Given the description of an element on the screen output the (x, y) to click on. 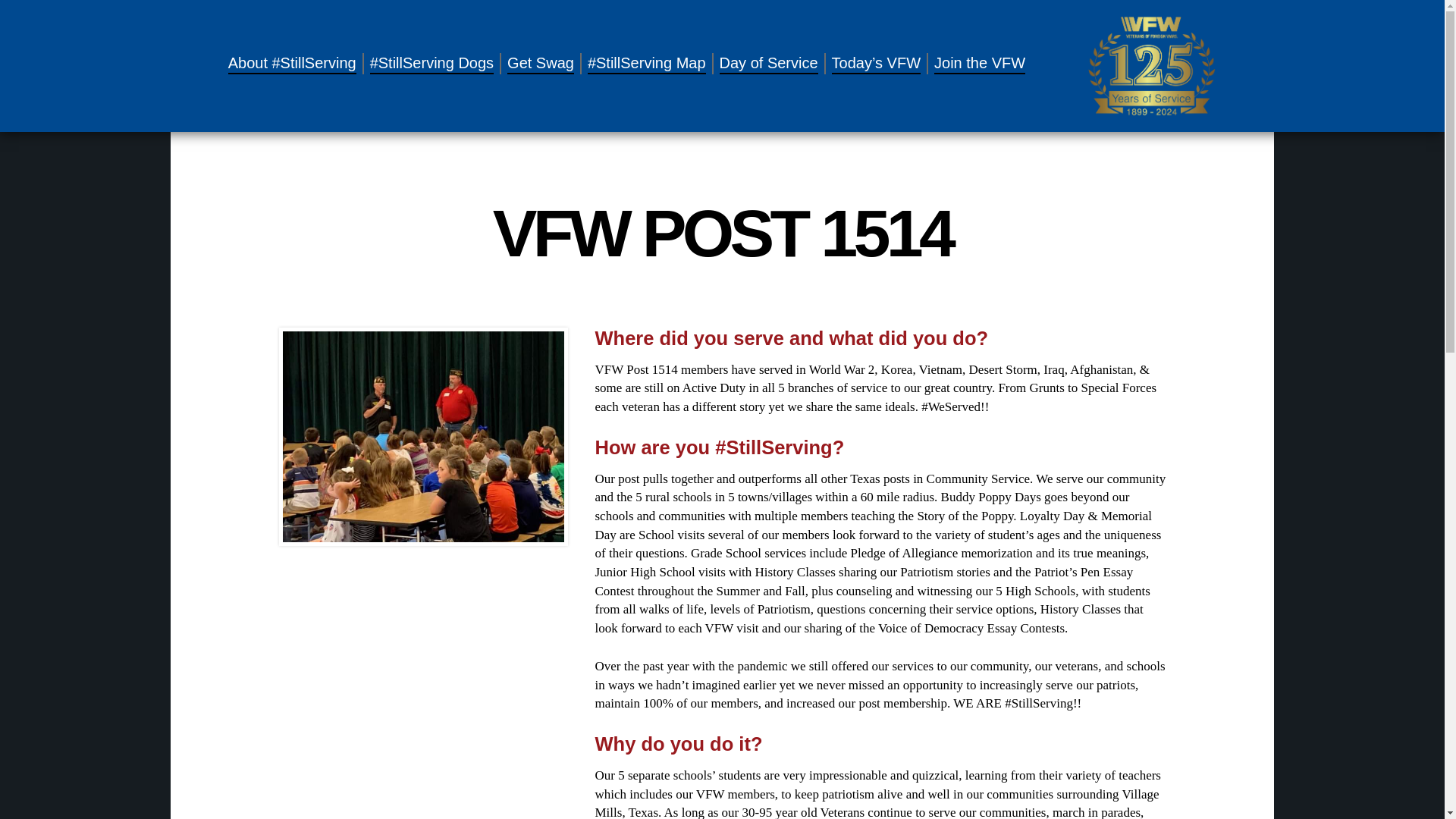
Day of Service (768, 63)
Join the VFW (979, 63)
Get Swag (539, 63)
